Given the description of an element on the screen output the (x, y) to click on. 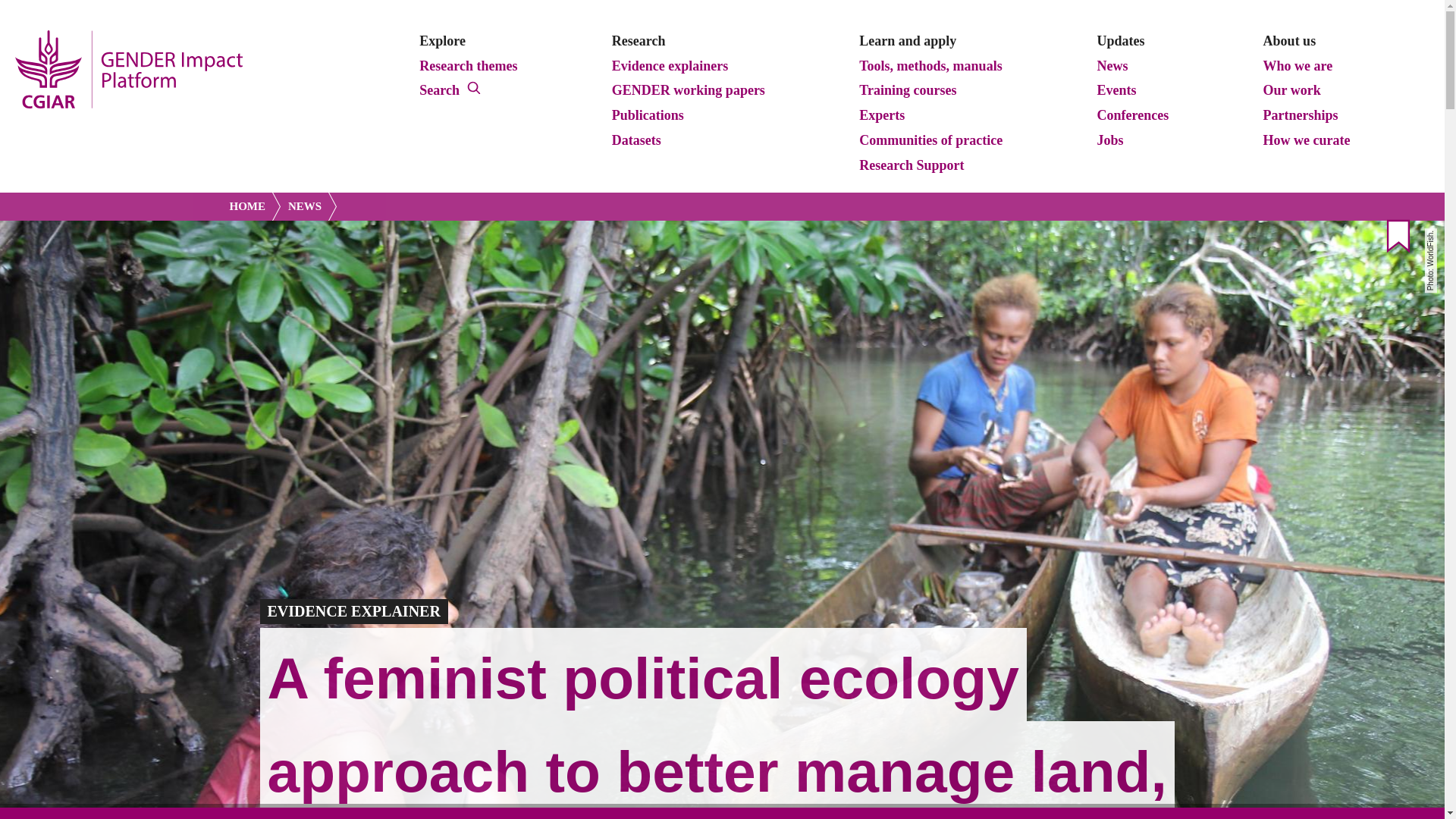
Datasets (636, 140)
Evidence explainers (670, 66)
NEWS (308, 206)
Communities of practice (930, 140)
Research themes (468, 66)
Who we are (1297, 66)
Experts (881, 115)
Conferences (1132, 115)
Training courses (907, 90)
News (1112, 66)
